Given the description of an element on the screen output the (x, y) to click on. 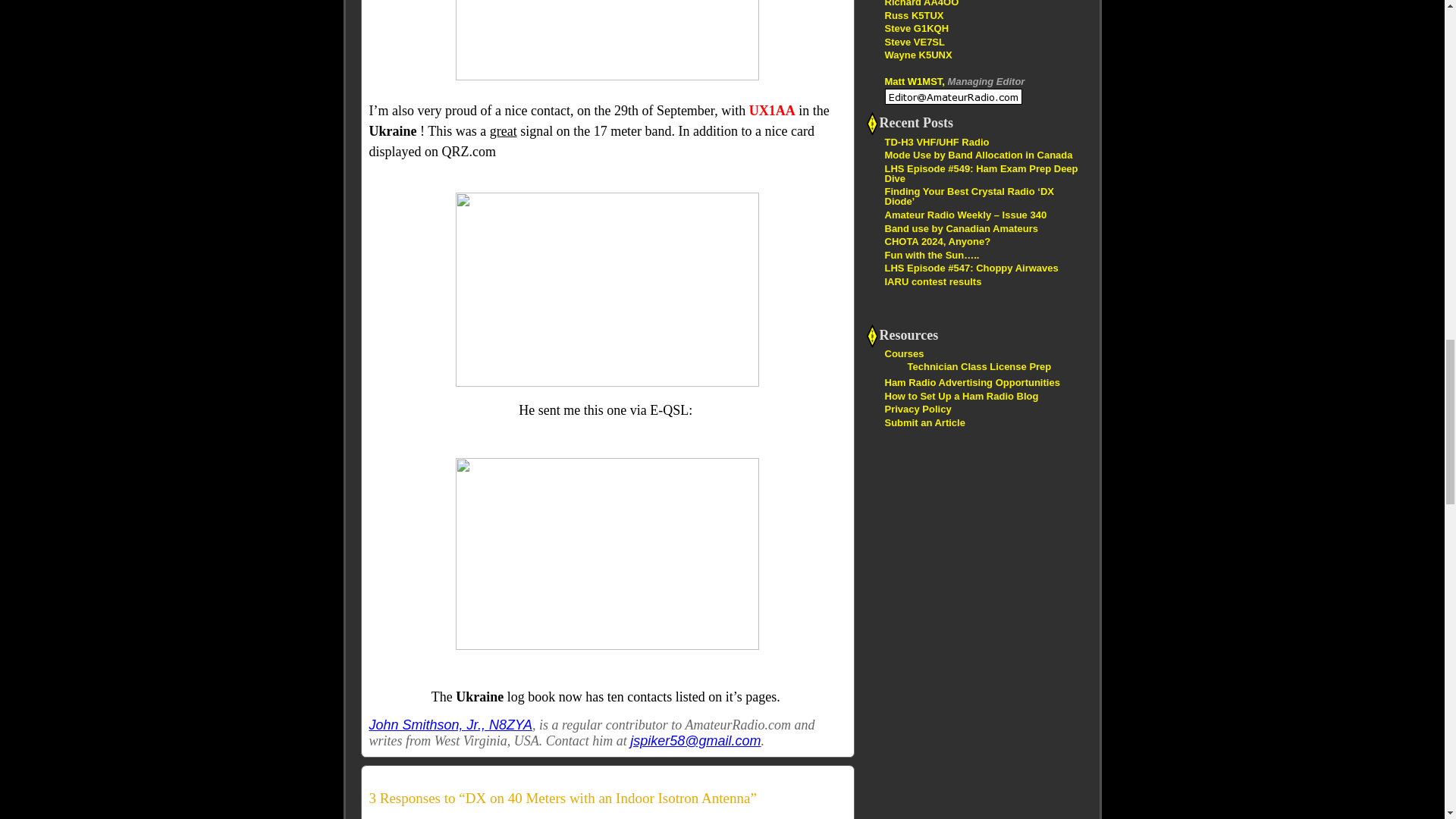
Lower your Power  Raise your Expectations (920, 3)
Linux in the Ham Shack Podcast in MP3 Format (913, 14)
Homebrewing and Operating Adventures From 2200m To Nanowaves (913, 41)
John Smithson, Jr., N8ZYA (449, 724)
